Given the description of an element on the screen output the (x, y) to click on. 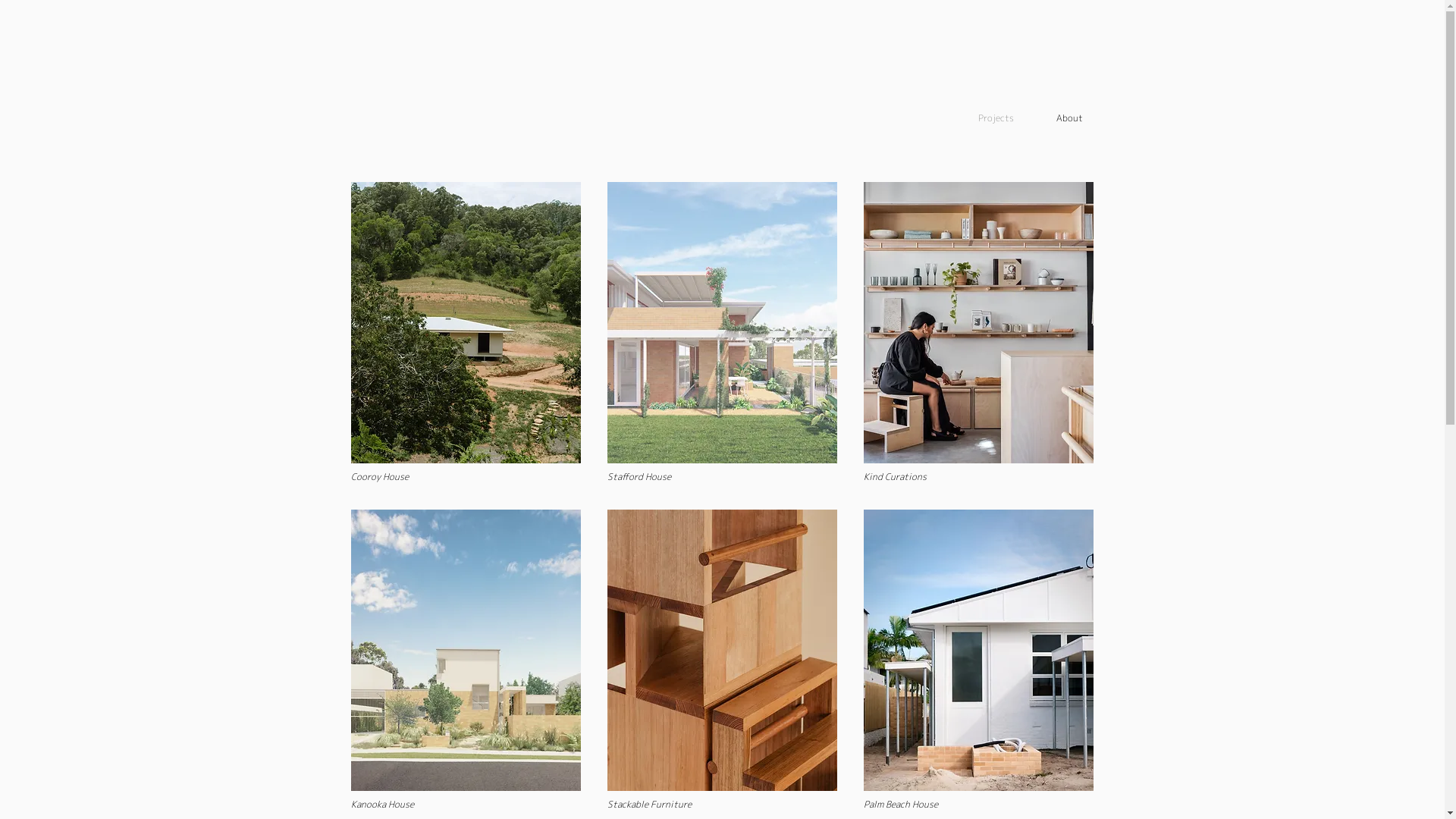
Stackable Furniture Element type: text (722, 659)
About Element type: text (1059, 117)
Kanooka House Element type: text (465, 659)
Projects Element type: text (990, 117)
Kind Curations Element type: text (978, 332)
Palm Beach House Element type: text (978, 659)
Cooroy House Element type: text (465, 332)
Stafford House Element type: text (722, 332)
